Given the description of an element on the screen output the (x, y) to click on. 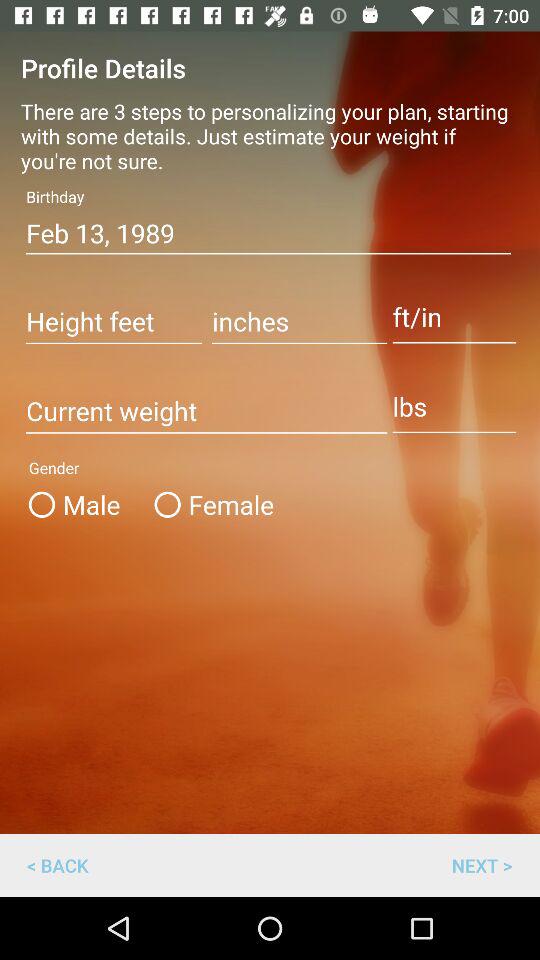
enter the current weight (206, 412)
